Given the description of an element on the screen output the (x, y) to click on. 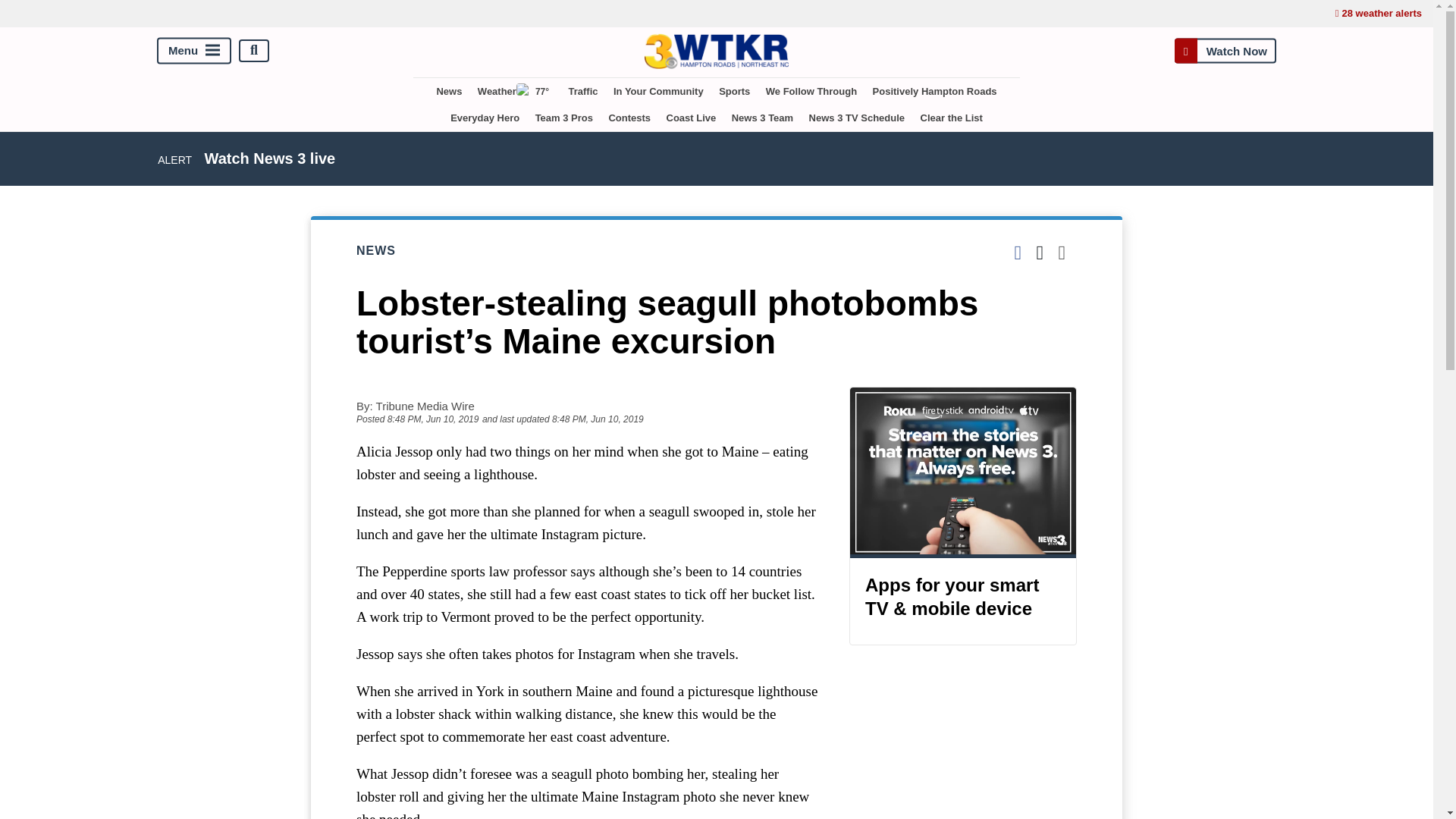
Menu (194, 49)
Watch Now (1224, 50)
